Given the description of an element on the screen output the (x, y) to click on. 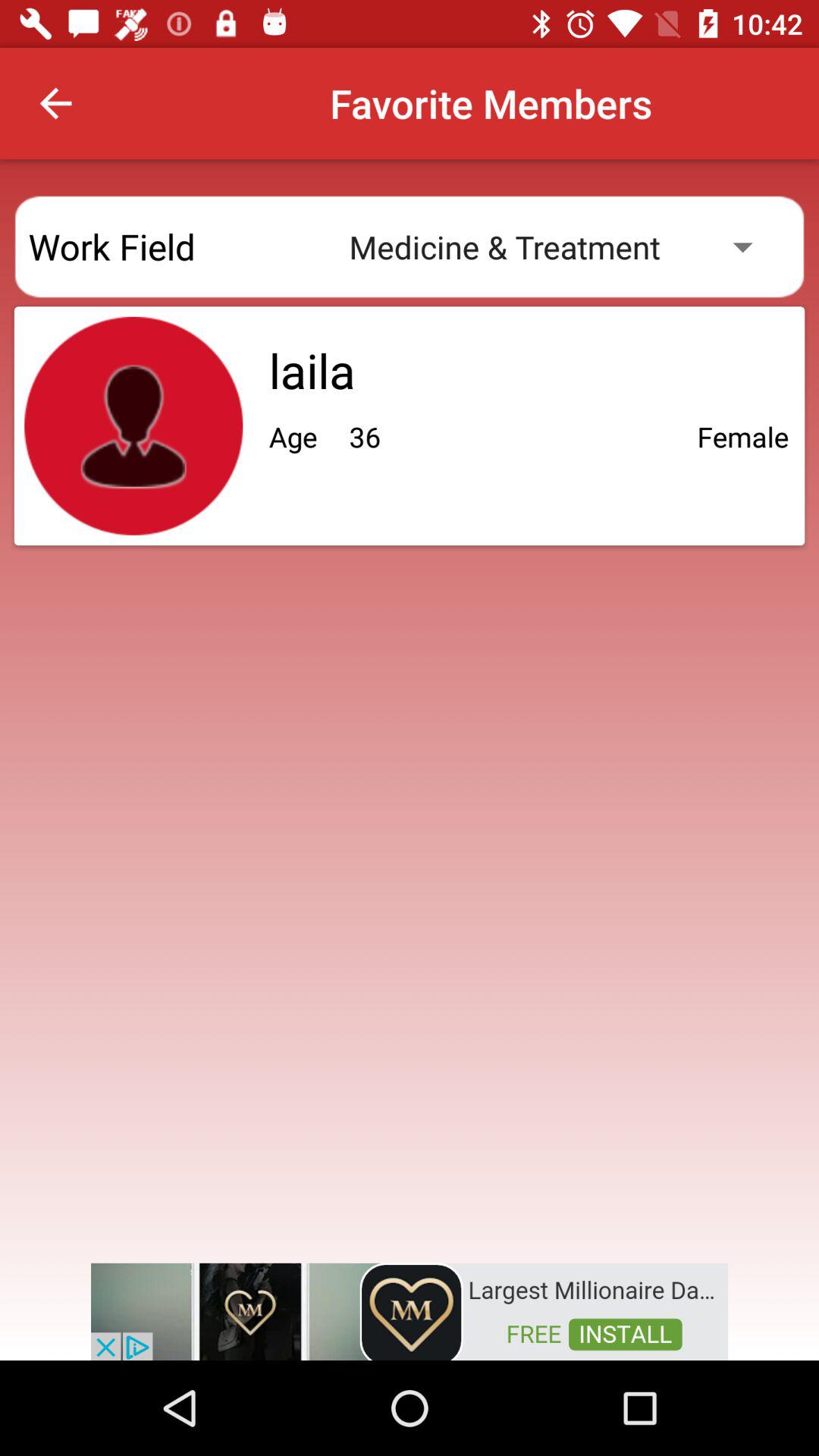
for advertisement (409, 1310)
